Given the description of an element on the screen output the (x, y) to click on. 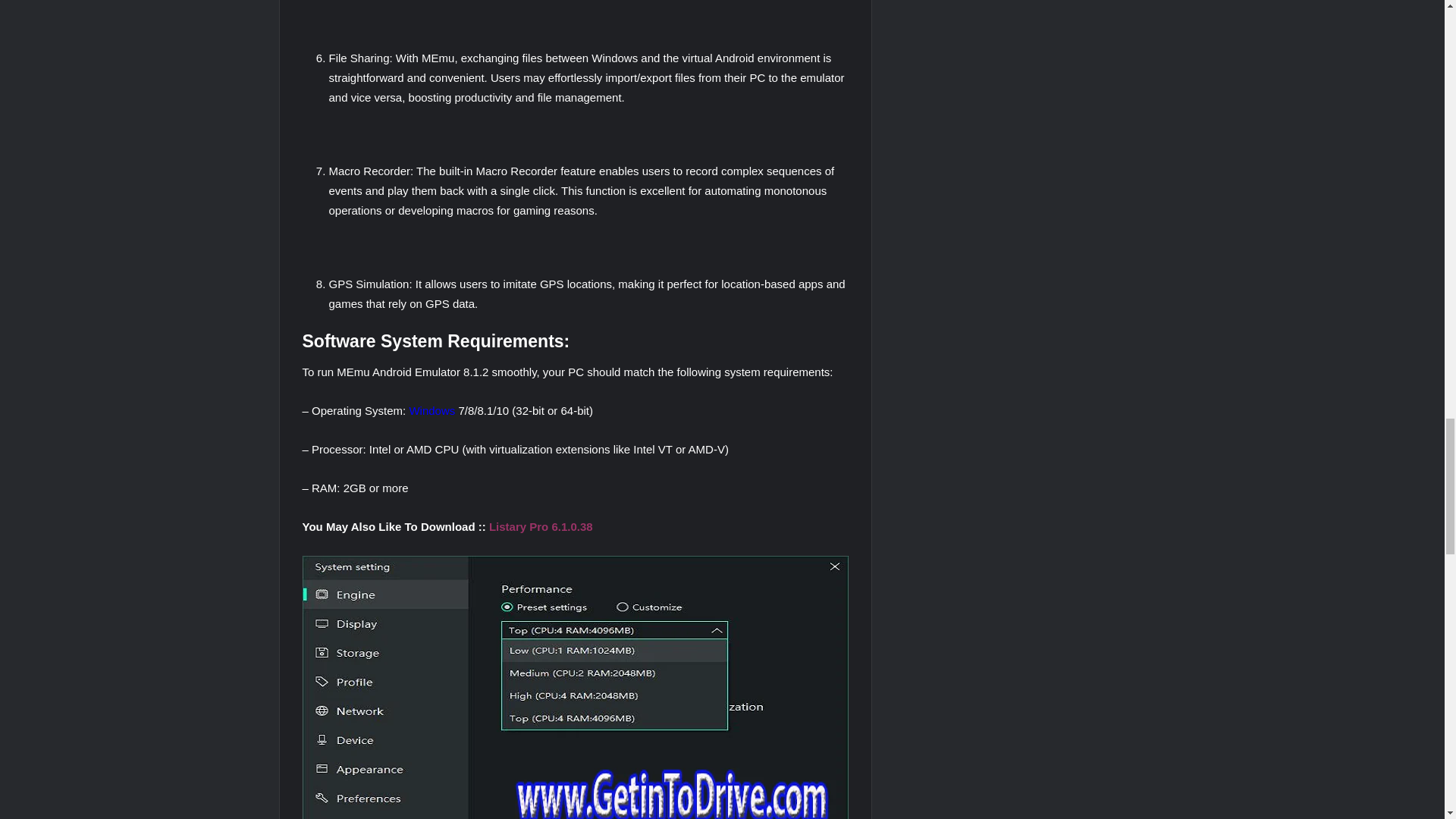
Listary Pro 6.1.0.38 (540, 526)
Windows (433, 410)
